Given the description of an element on the screen output the (x, y) to click on. 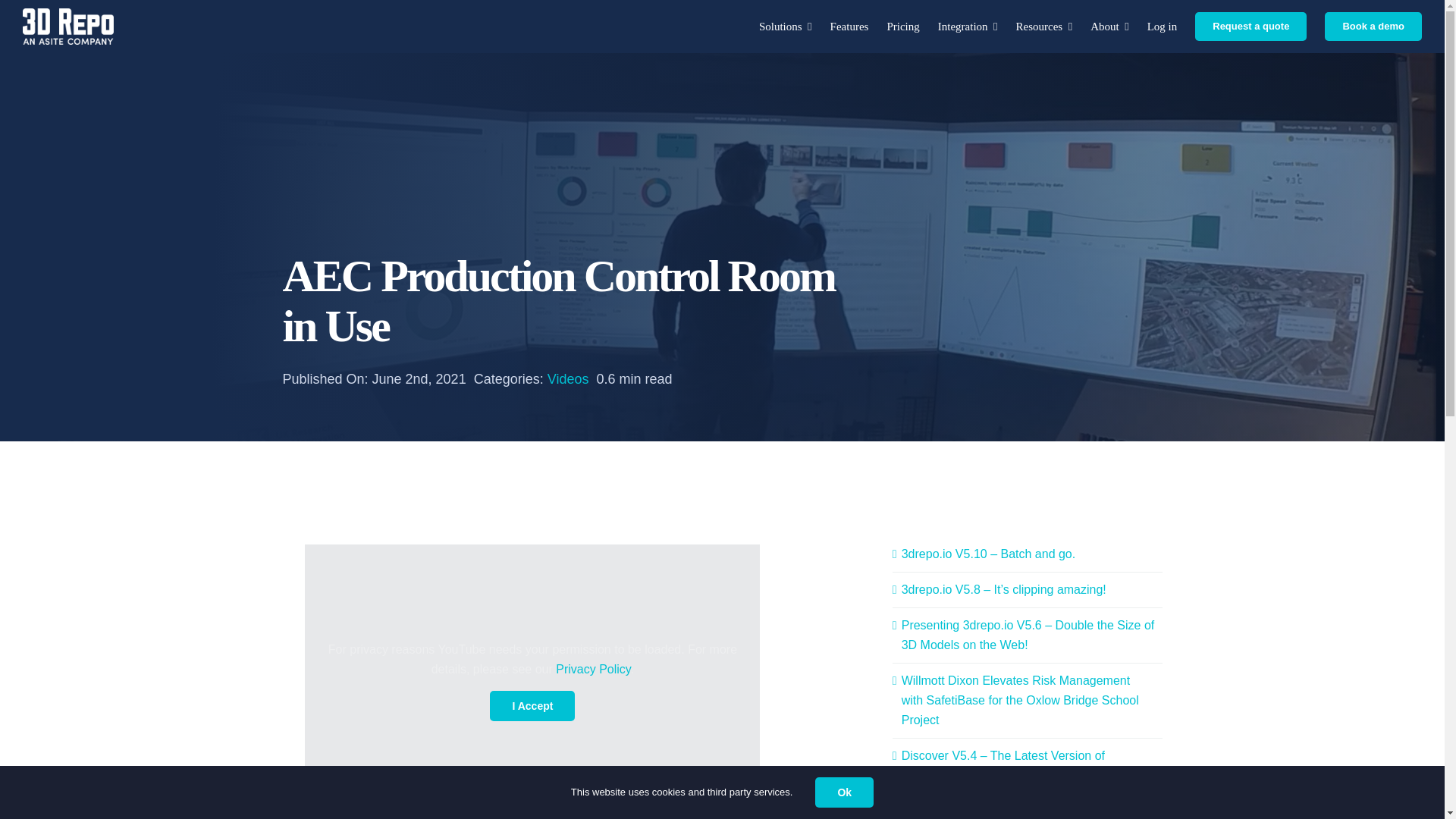
Pricing (902, 26)
About (1109, 26)
Features (849, 26)
Book a demo (1373, 26)
Log in (1162, 26)
Integration (967, 26)
Solutions (785, 26)
Request a quote (1250, 26)
Resources (1044, 26)
